Given the description of an element on the screen output the (x, y) to click on. 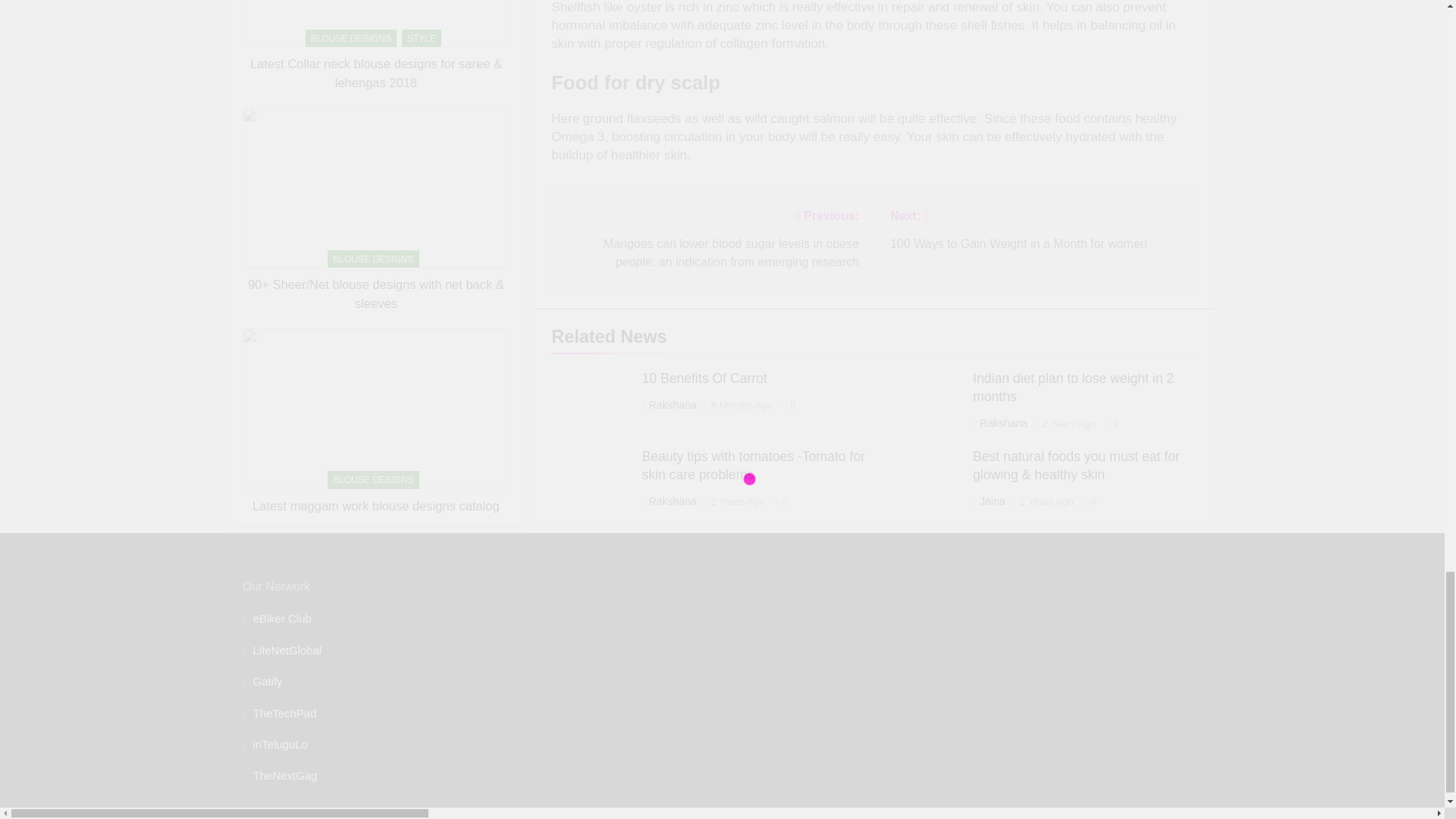
10 Benefits Of Carrot (704, 378)
Rakshana (671, 404)
